Given the description of an element on the screen output the (x, y) to click on. 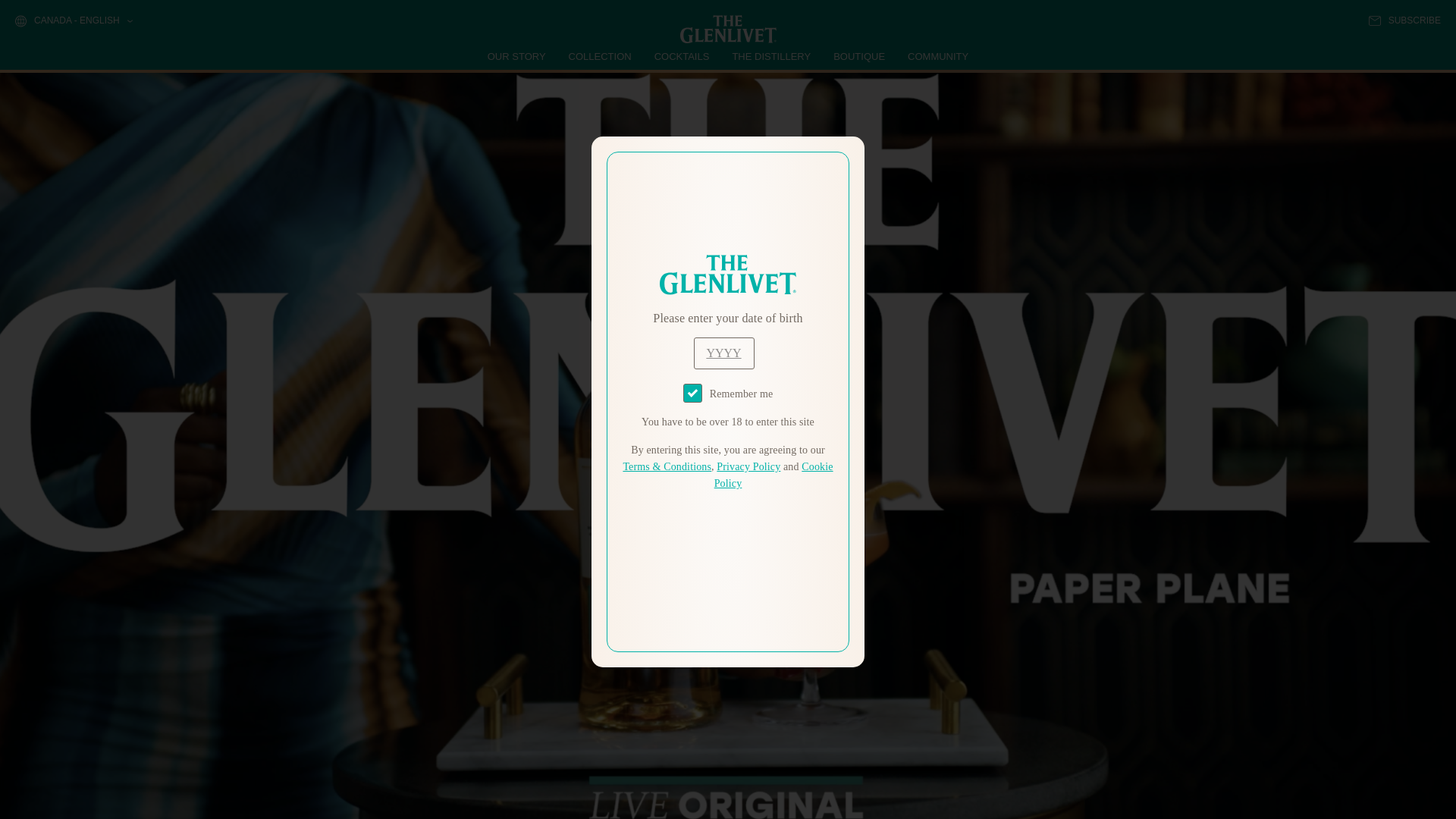
year (723, 353)
COMMUNITY (937, 56)
COLLECTION (600, 56)
CANADA - ENGLISH (73, 21)
Privacy Policy (748, 466)
COCKTAILS (681, 56)
Cookie Policy (773, 474)
BOUTIQUE (858, 56)
OUR STORY (516, 56)
SUBSCRIBE (1404, 20)
THE DISTILLERY (771, 56)
